Given the description of an element on the screen output the (x, y) to click on. 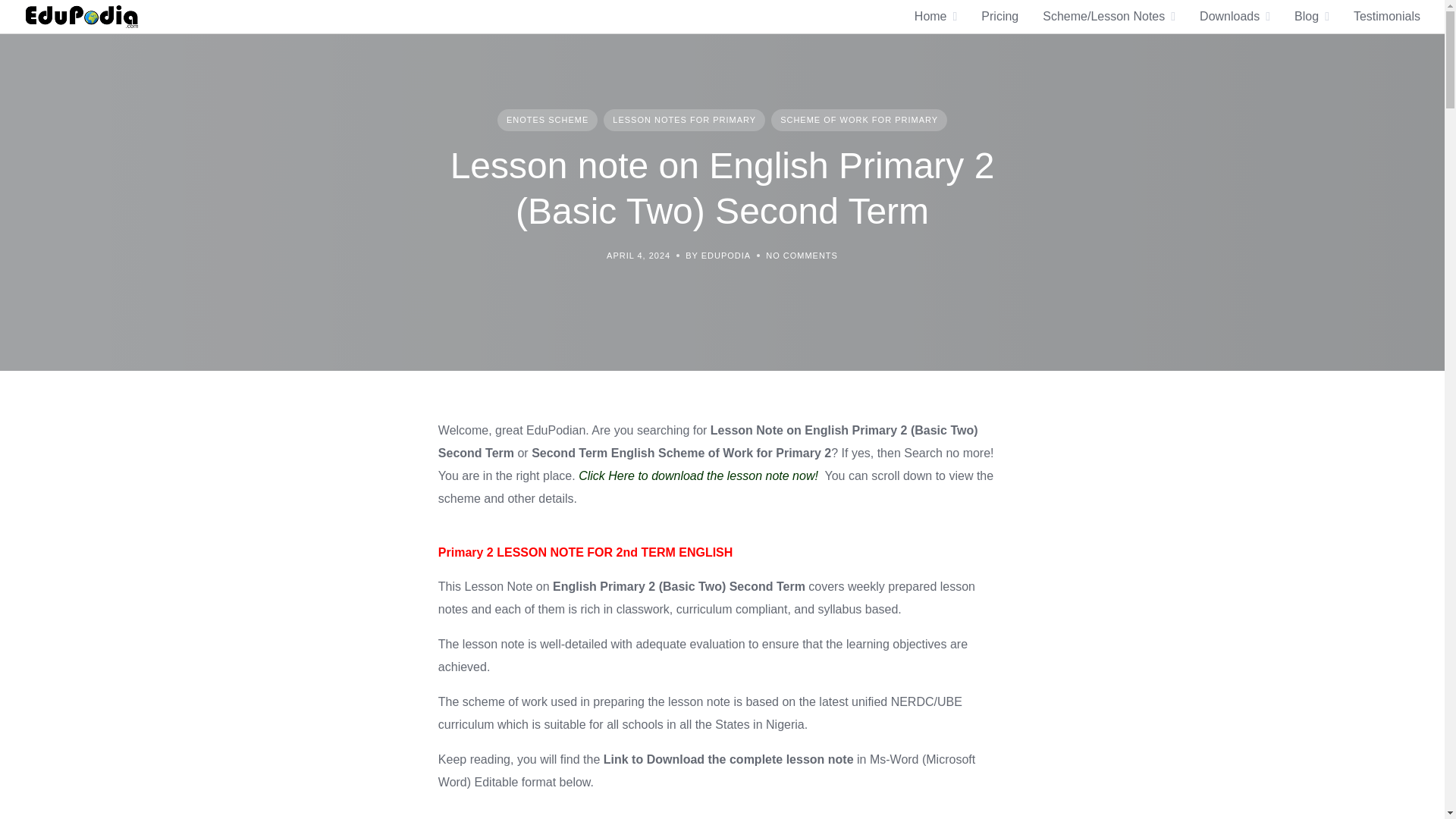
Pricing (999, 16)
Home (930, 16)
